Given the description of an element on the screen output the (x, y) to click on. 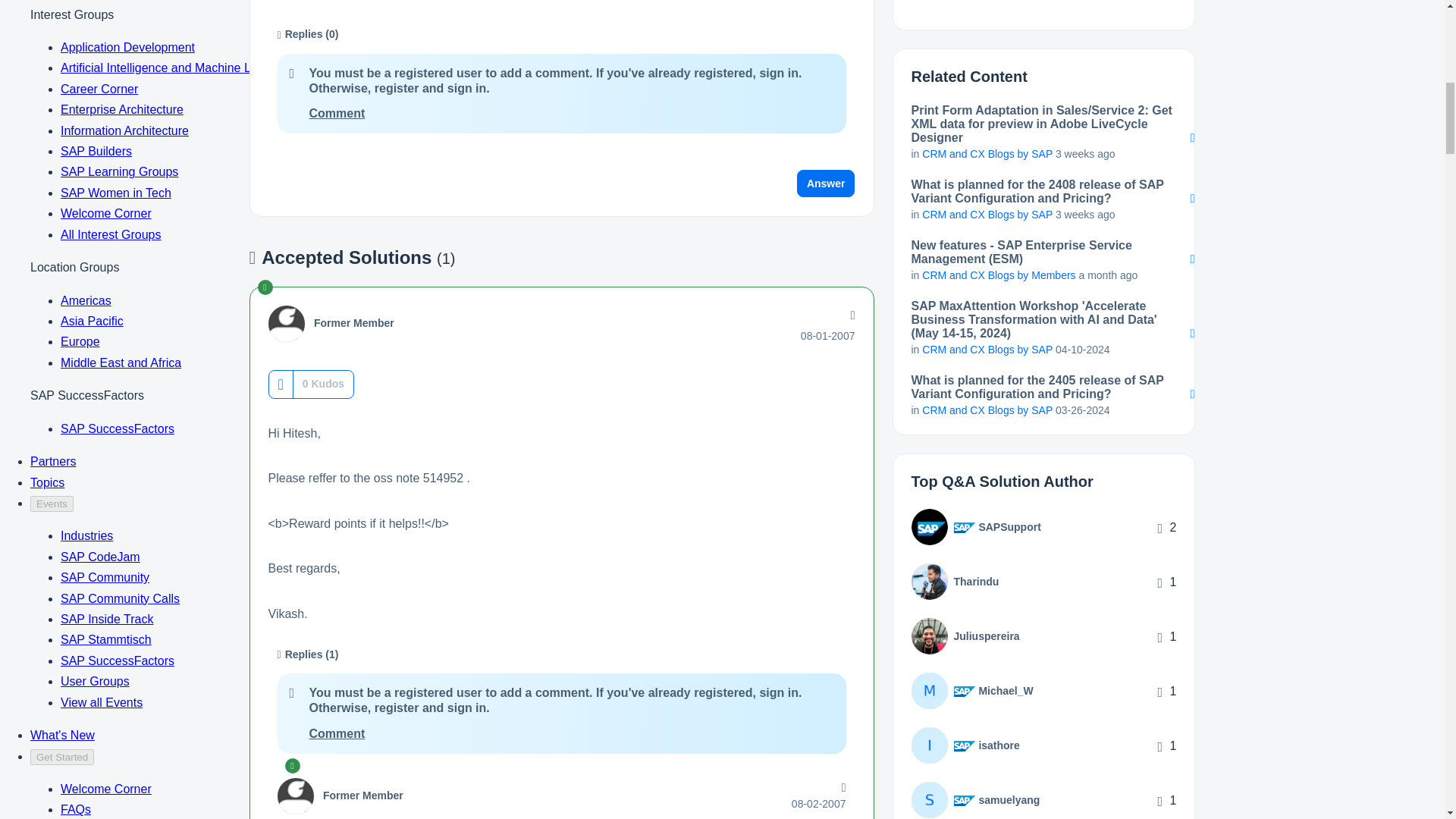
Posted on (828, 336)
Comment (336, 113)
The total number of kudos this post has received. (323, 383)
Show option menu (851, 315)
Comment (336, 733)
Answer (826, 183)
